Given the description of an element on the screen output the (x, y) to click on. 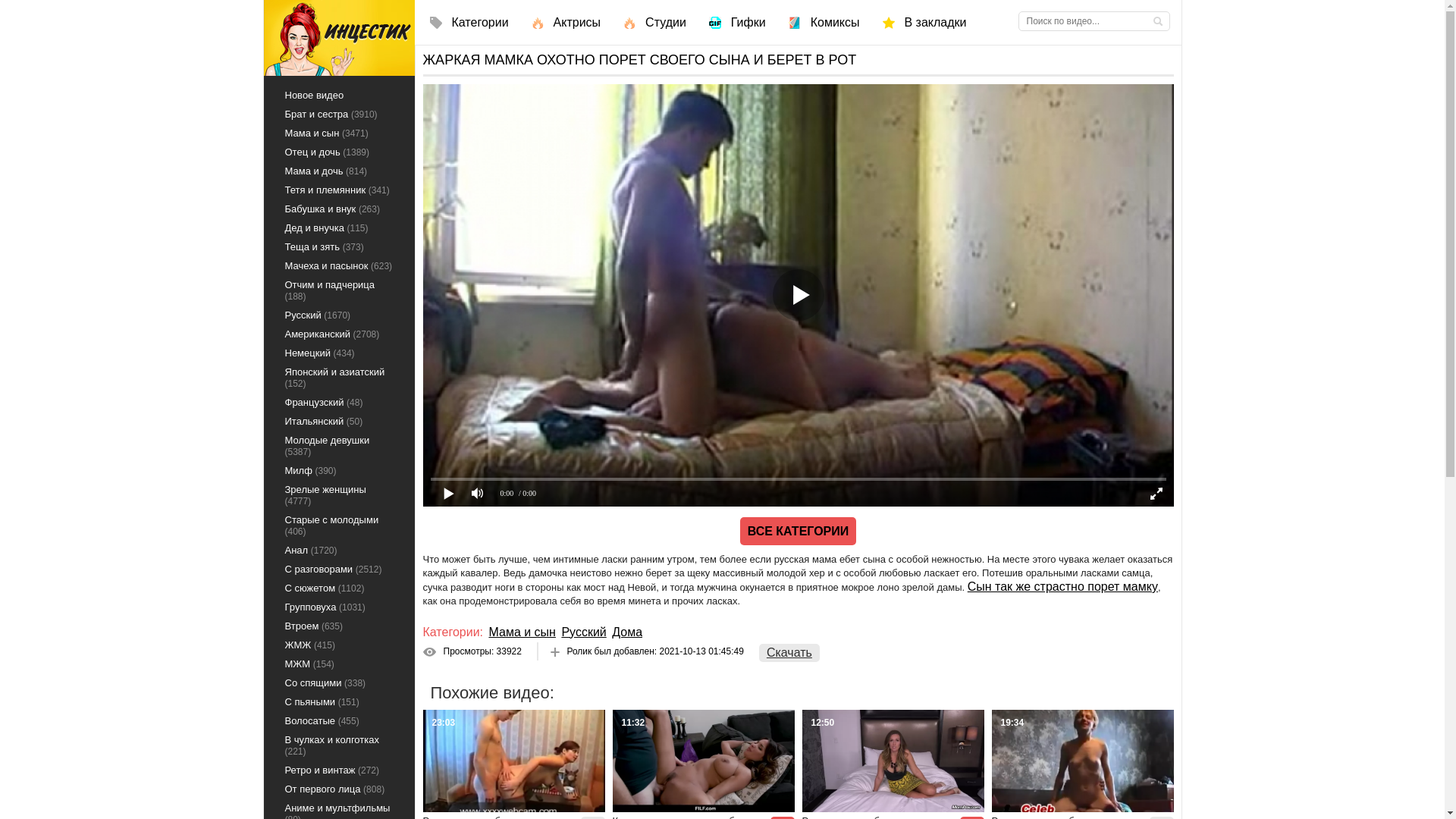
pjsfrrsplayer_site Element type: hover (798, 295)
